Given the description of an element on the screen output the (x, y) to click on. 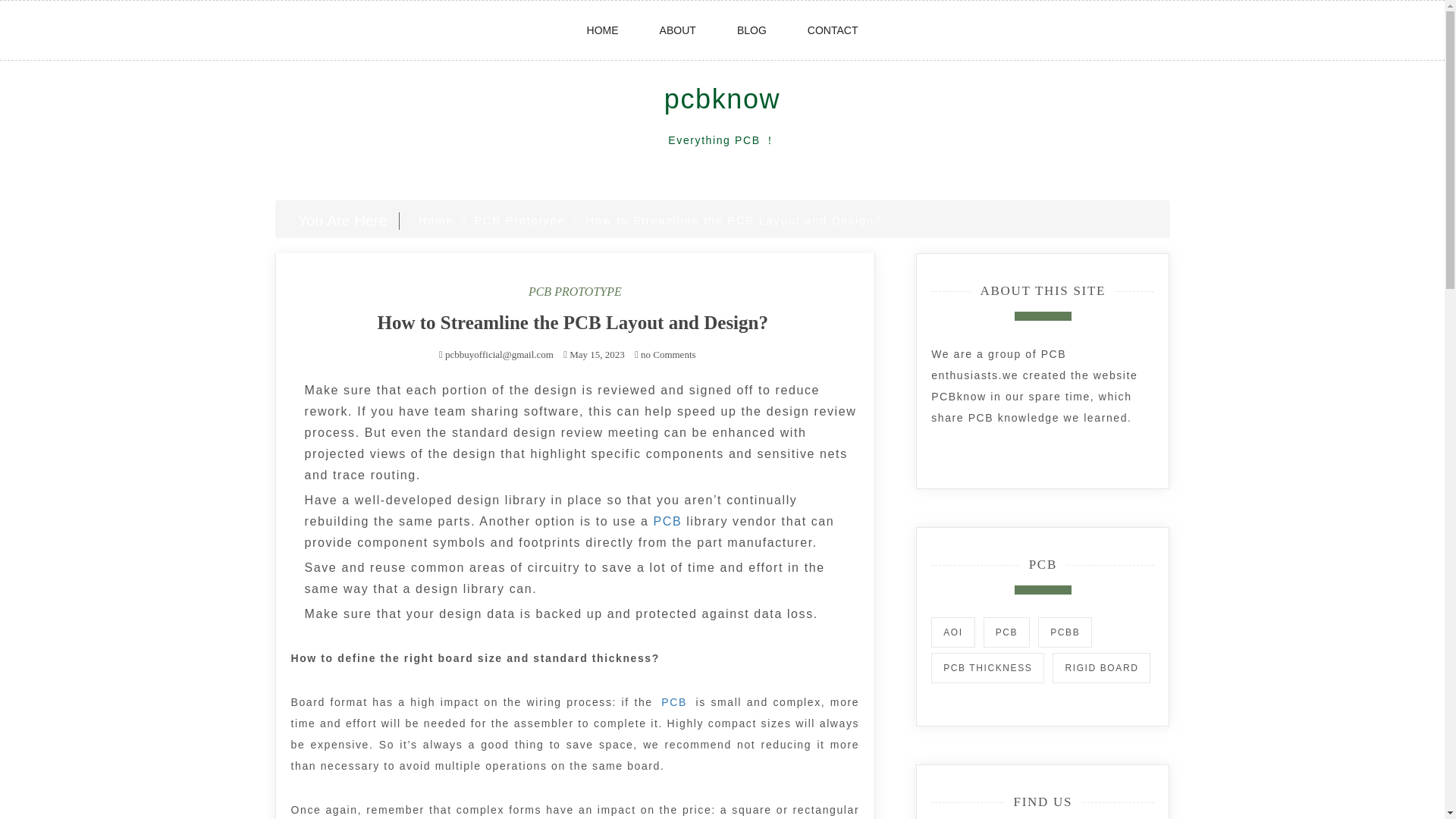
CONTACT (832, 29)
AOI (952, 632)
HOME (603, 29)
RIGID BOARD (1101, 667)
PCB THICKNESS (987, 667)
PCBB (1065, 632)
May 15, 2023 (596, 354)
How to Streamline the PCB Layout and Design?  (575, 322)
ABOUT (678, 29)
PCB (666, 521)
